Given the description of an element on the screen output the (x, y) to click on. 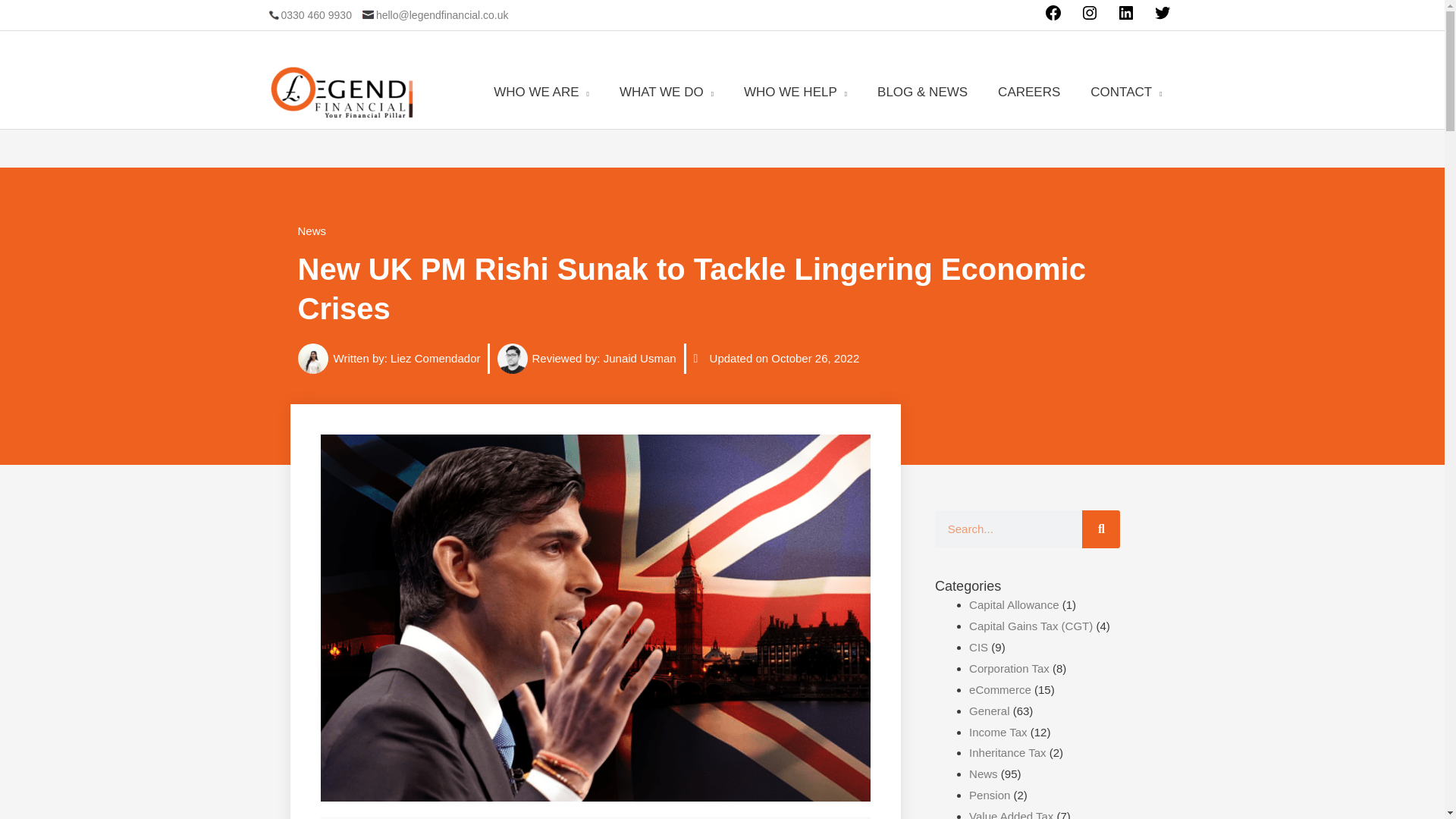
WHAT WE DO (666, 91)
LinkedIn (1125, 17)
Instagram (1089, 17)
Facebook (1052, 17)
Twitter (1162, 17)
WHO WE ARE (541, 91)
0330 460 9930 (308, 15)
